Given the description of an element on the screen output the (x, y) to click on. 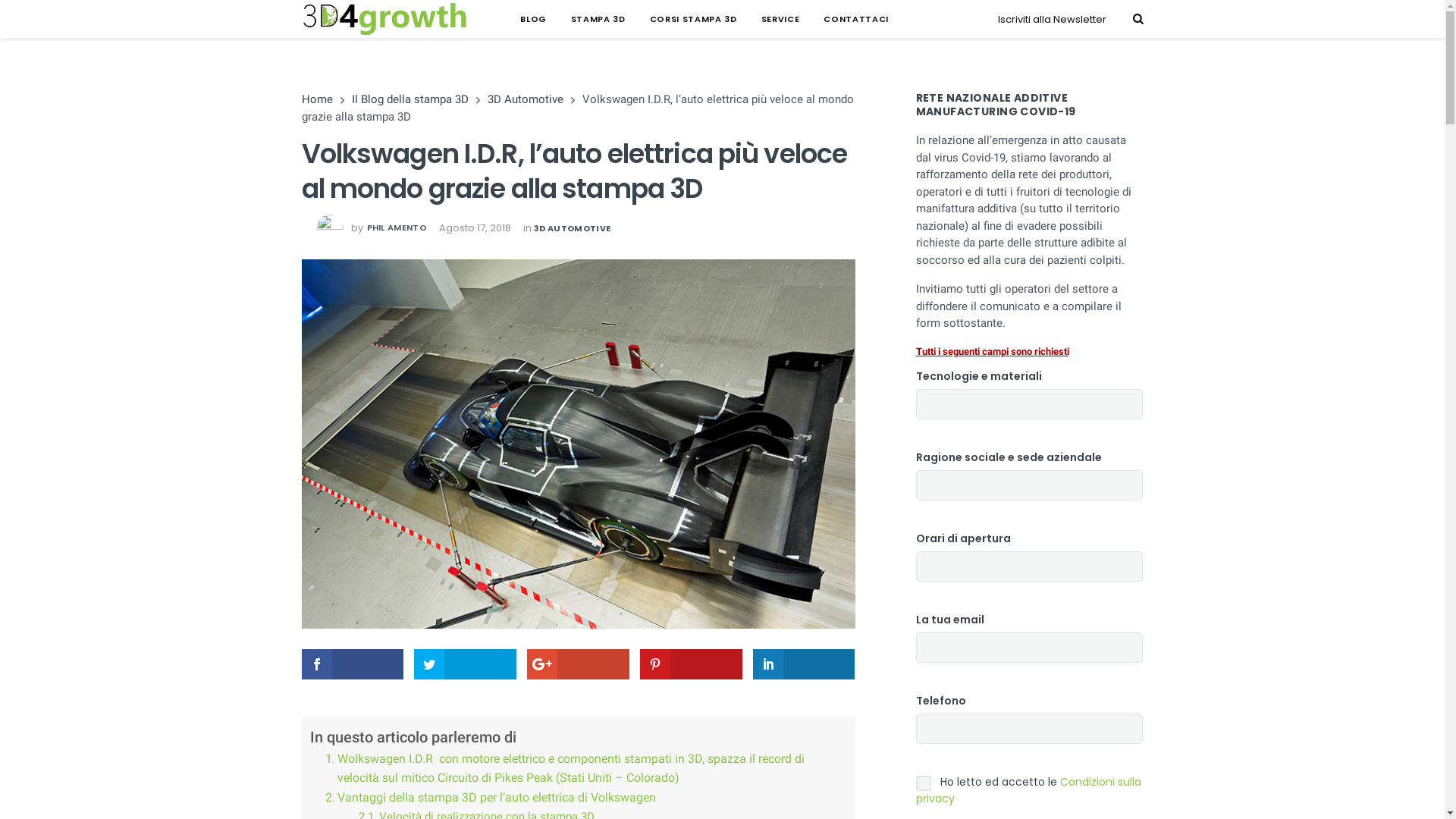
STAMPA 3D Element type: text (597, 18)
by
PHIL AMENTO Element type: text (371, 227)
3D Automotive Element type: text (524, 99)
Condizioni sulla privacy Element type: text (1028, 789)
3D AUTOMOTIVE Element type: text (571, 228)
Home Element type: text (316, 99)
Iscriviti alla Newsletter Element type: text (1051, 19)
CONTATTACI Element type: text (855, 18)
BLOG Element type: text (533, 18)
SERVICE Element type: text (780, 18)
CORSI STAMPA 3D Element type: text (693, 18)
Il Blog della stampa 3D Element type: text (409, 99)
